Given the description of an element on the screen output the (x, y) to click on. 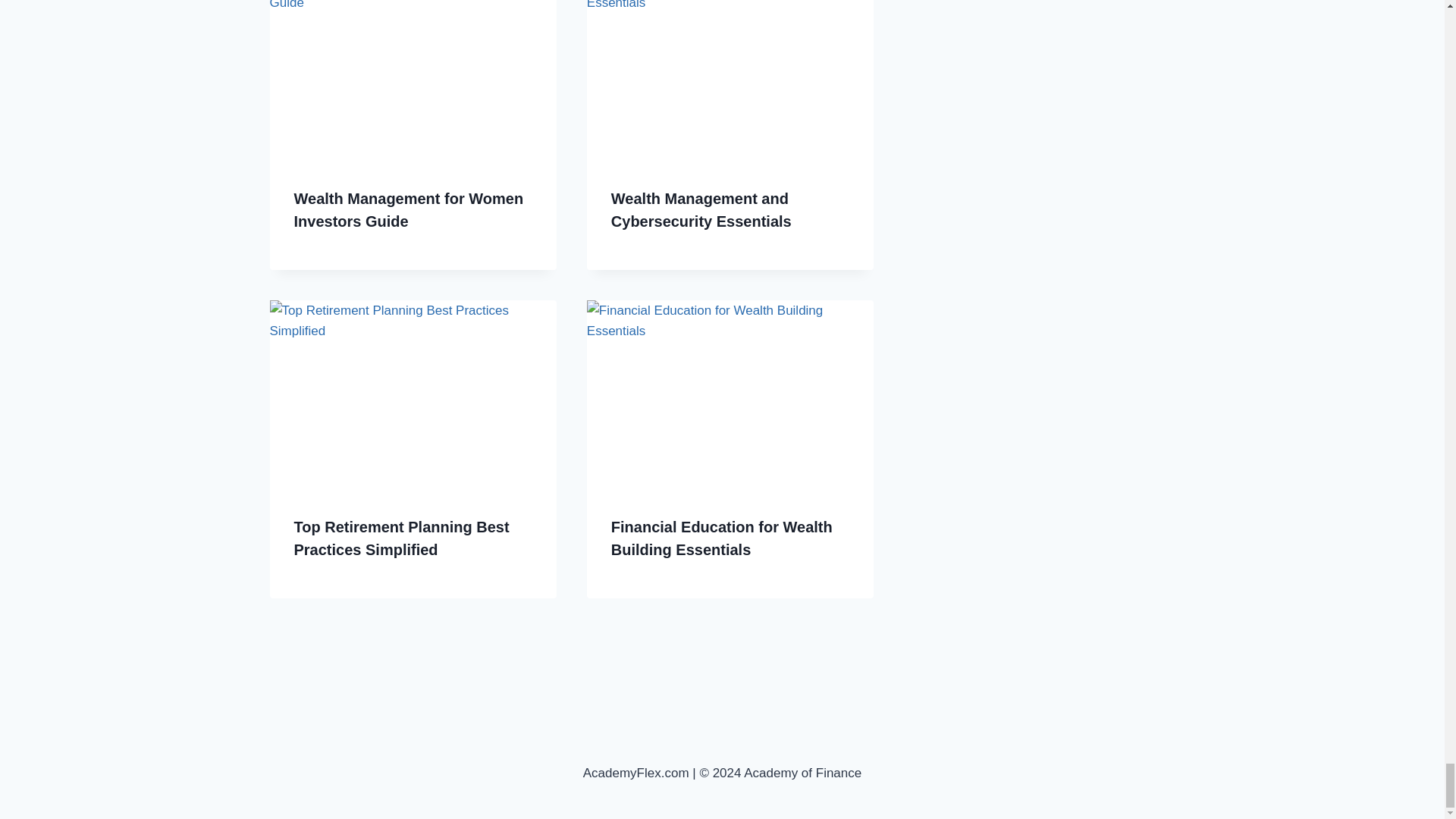
Top Retirement Planning Best Practices Simplified (401, 537)
Wealth Management and Cybersecurity Essentials (701, 210)
Wealth Management for Women Investors Guide (409, 210)
